Given the description of an element on the screen output the (x, y) to click on. 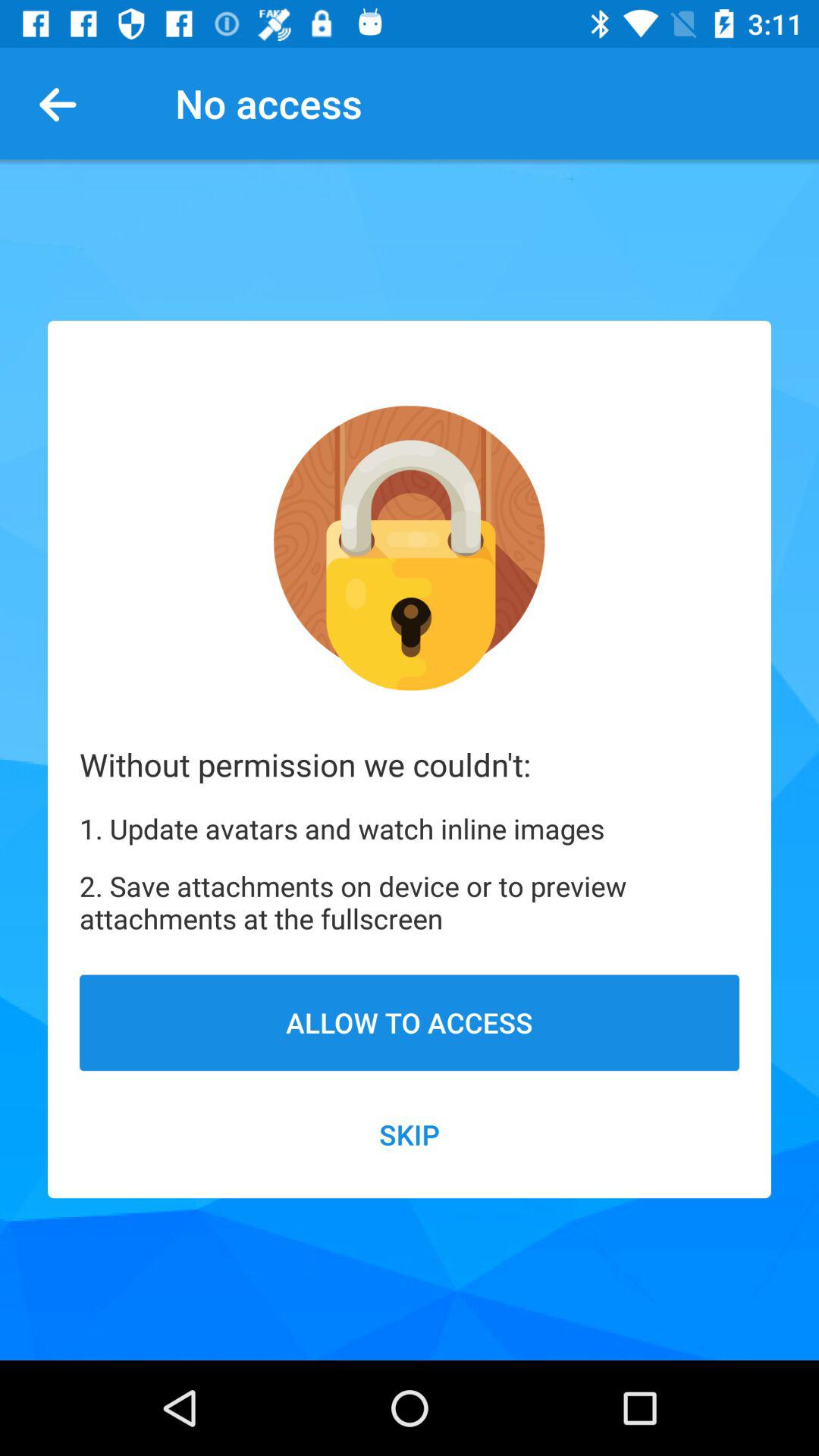
select the item below the allow to access icon (409, 1134)
